Given the description of an element on the screen output the (x, y) to click on. 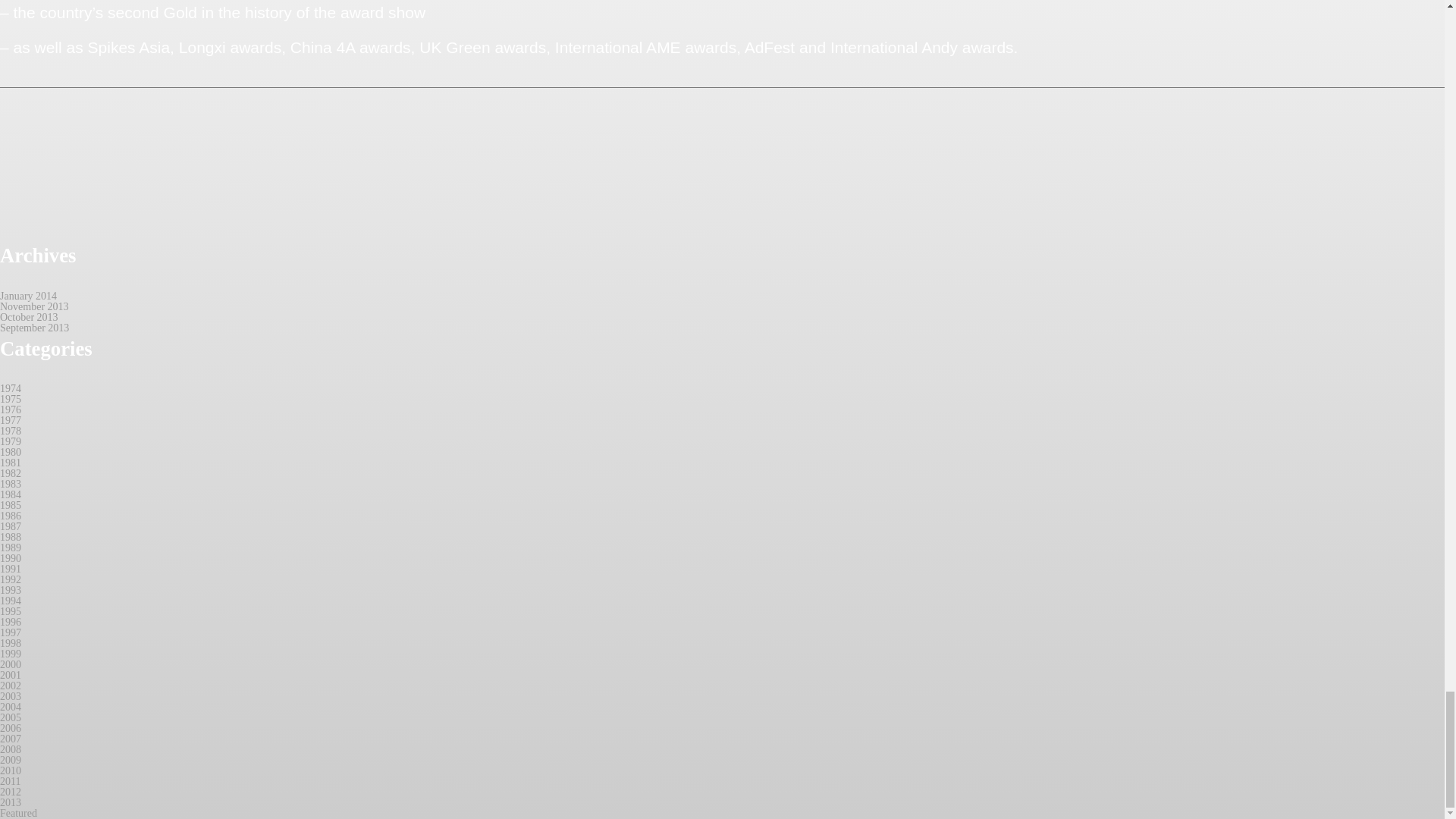
1993 (10, 590)
1990 (10, 558)
November 2013 (34, 306)
1983 (10, 483)
January 2014 (28, 296)
1988 (10, 536)
1997 (10, 632)
1995 (10, 611)
1996 (10, 622)
1980 (10, 451)
